Given the description of an element on the screen output the (x, y) to click on. 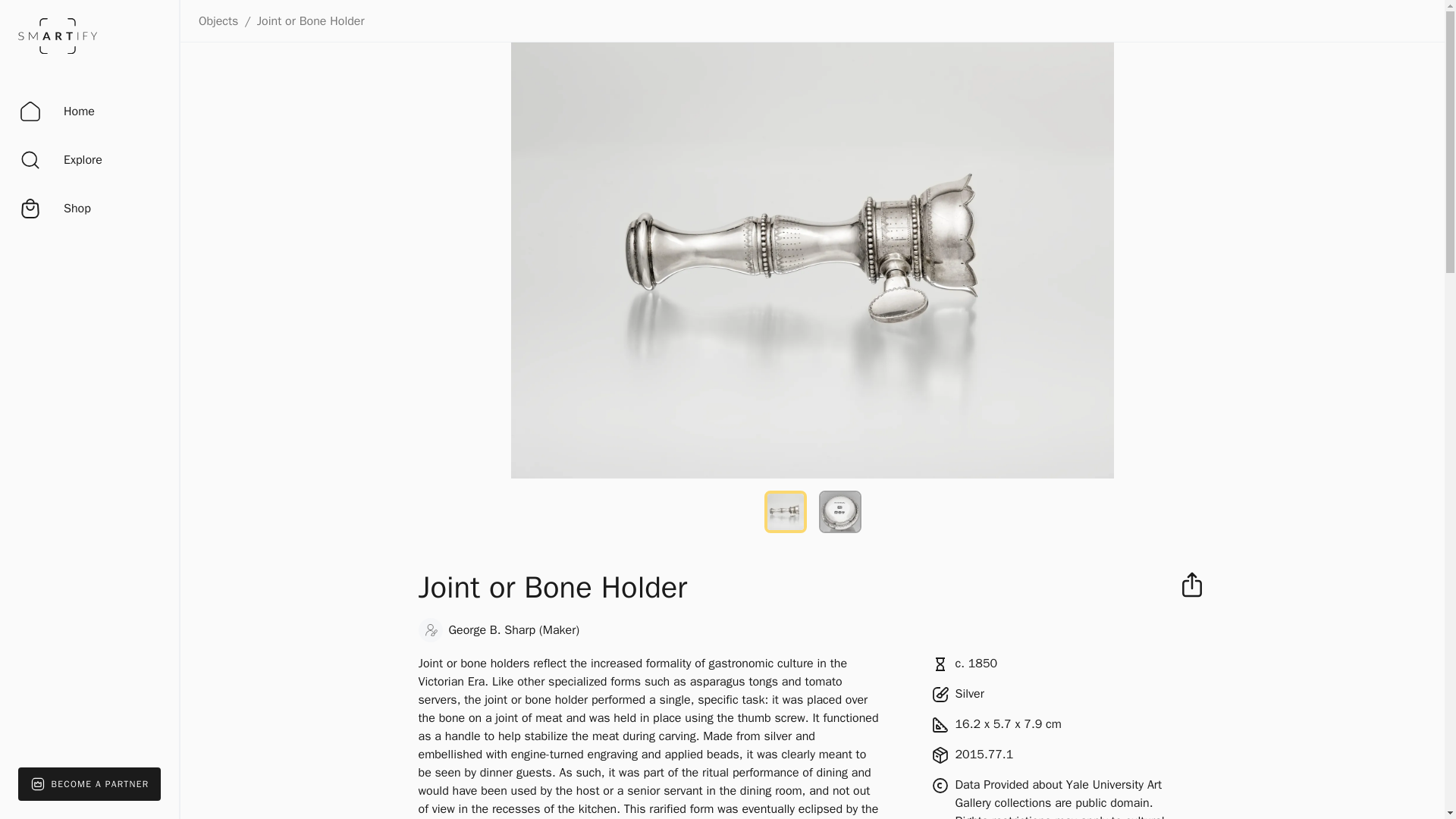
BECOME A PARTNER (89, 783)
Shop (54, 208)
Objects (218, 21)
Explore (60, 159)
Home (55, 111)
